Given the description of an element on the screen output the (x, y) to click on. 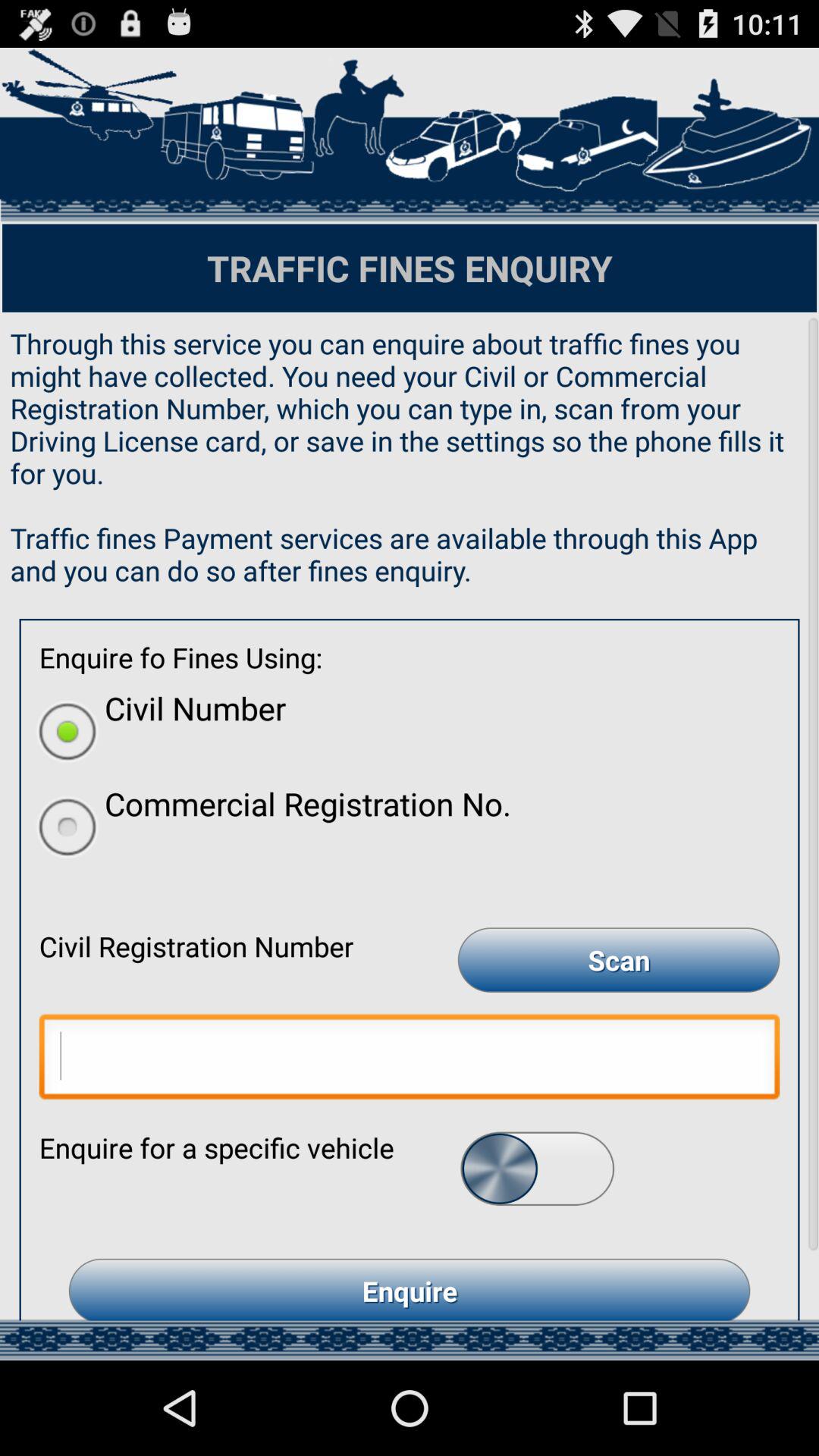
type name to sign (409, 1060)
